Given the description of an element on the screen output the (x, y) to click on. 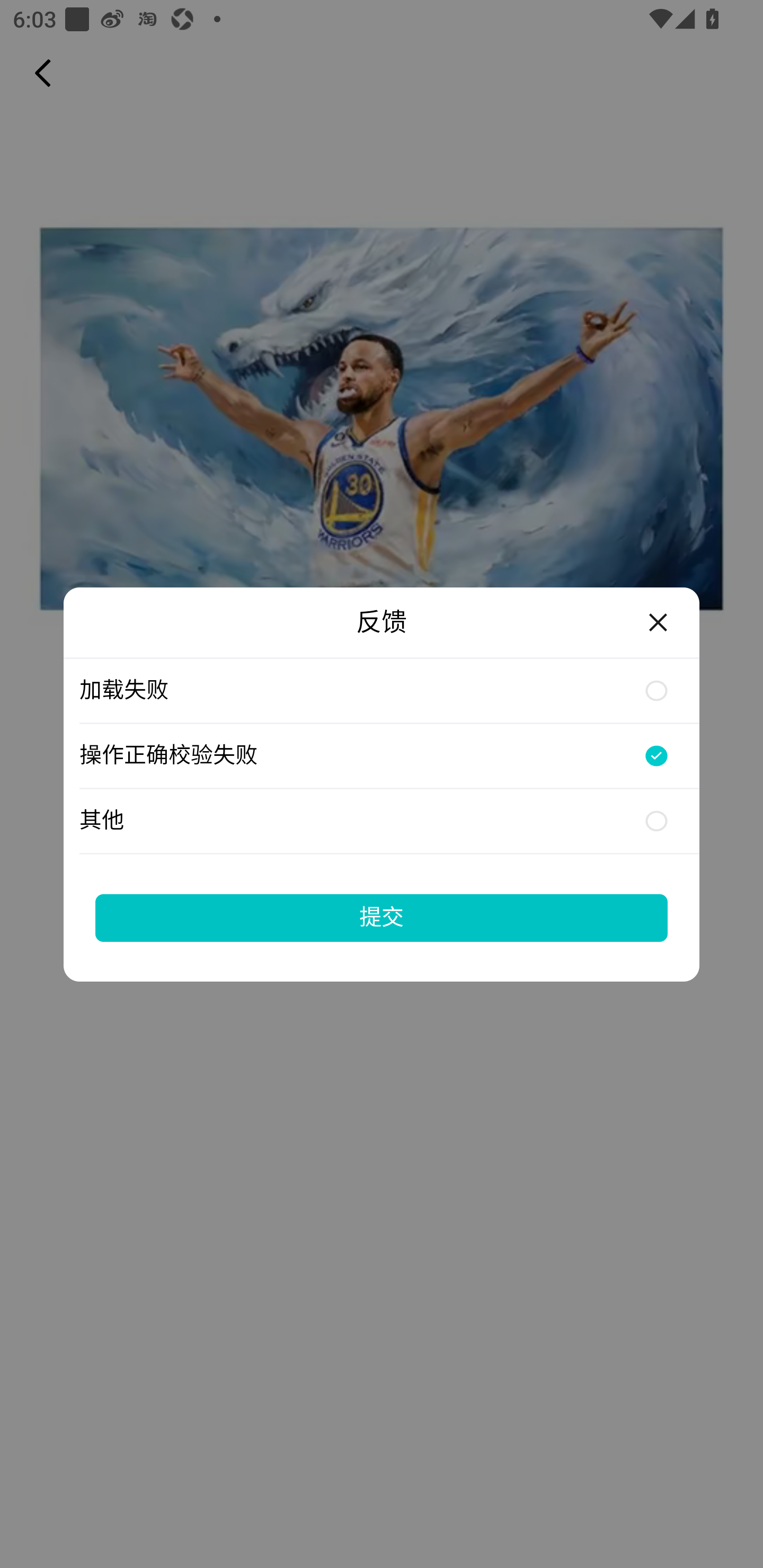
提交 (381, 917)
